Given the description of an element on the screen output the (x, y) to click on. 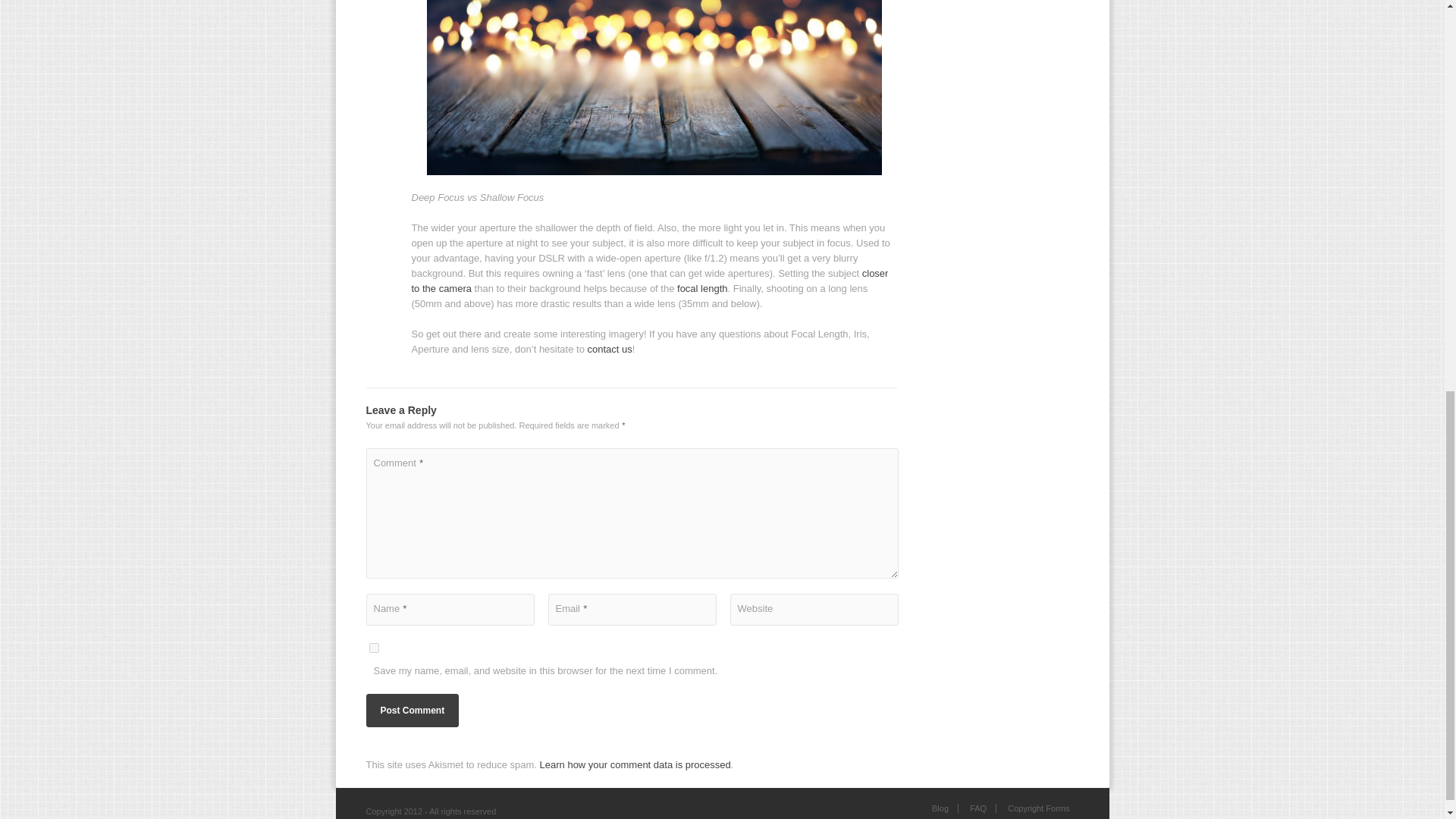
contact us (608, 348)
closer to the camera (649, 280)
focal length (702, 288)
FAQ (978, 808)
Blog (940, 808)
Post Comment (411, 710)
Learn how your comment data is processed (635, 764)
Post Comment (411, 710)
yes (373, 647)
